Given the description of an element on the screen output the (x, y) to click on. 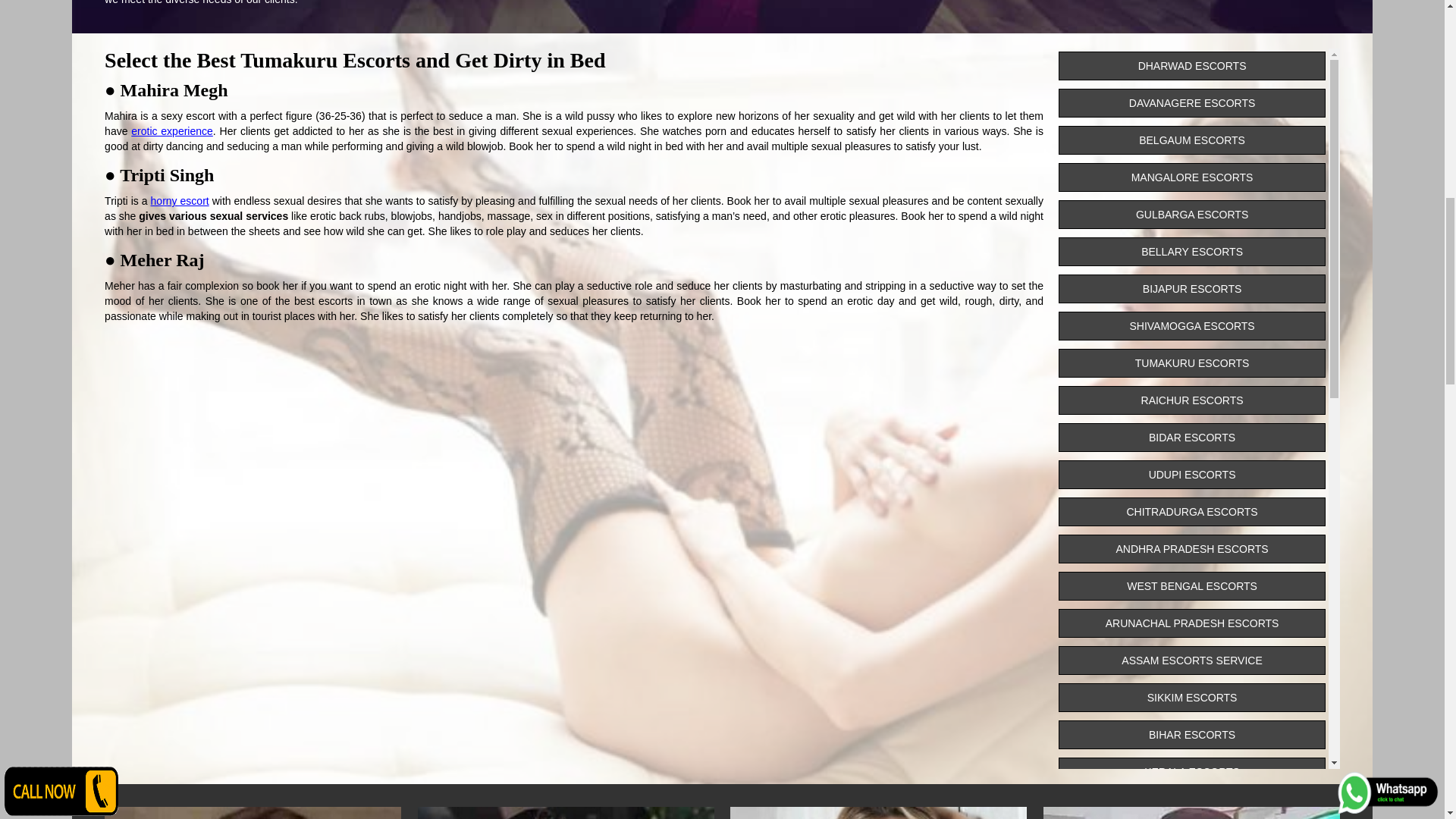
ASSAM ESCORTS SERVICE (1191, 660)
erotic experience (171, 131)
BELLARY ESCORTS (1191, 251)
Bidar escorts (1191, 437)
DAVANAGERE ESCORTS (1191, 102)
SIKKIM ESCORTS (1191, 697)
Bellary escorts (1191, 251)
BIJAPUR ESCORTS (1191, 288)
KERALA ESCORTS (1191, 771)
Mangalore escorts (1191, 176)
